Given the description of an element on the screen output the (x, y) to click on. 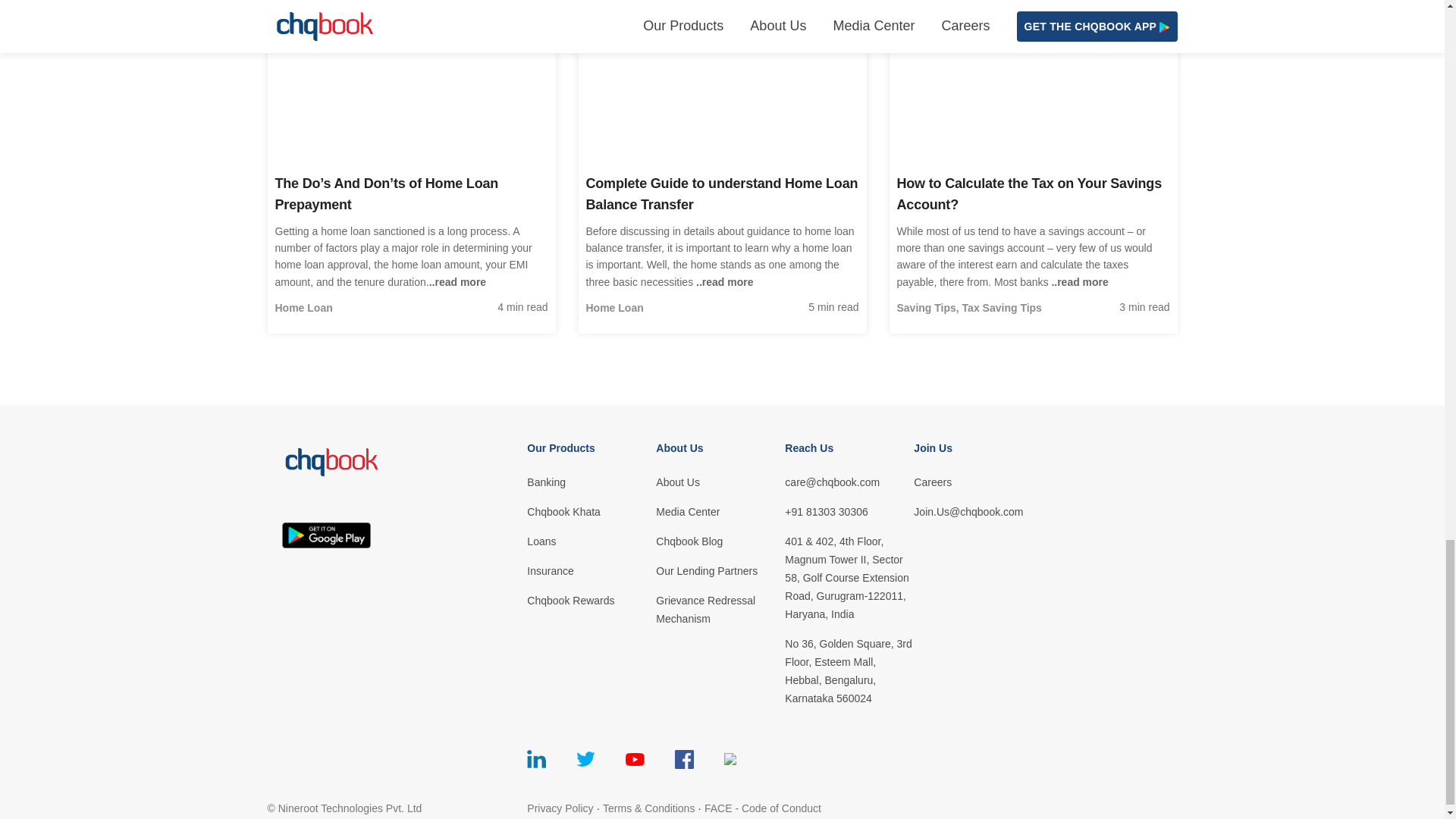
About Us (720, 482)
Insurance (591, 570)
FACE - Code of Conduct (762, 808)
Chqbook Blog (720, 541)
Careers (978, 482)
Privacy Policy (559, 808)
Chqbook Rewards (591, 600)
Banking (591, 482)
Our Lending Partners (720, 570)
Chqbook Khata (591, 511)
Grievance Redressal Mechanism (720, 609)
Media Center (720, 511)
Loans (591, 541)
